Given the description of an element on the screen output the (x, y) to click on. 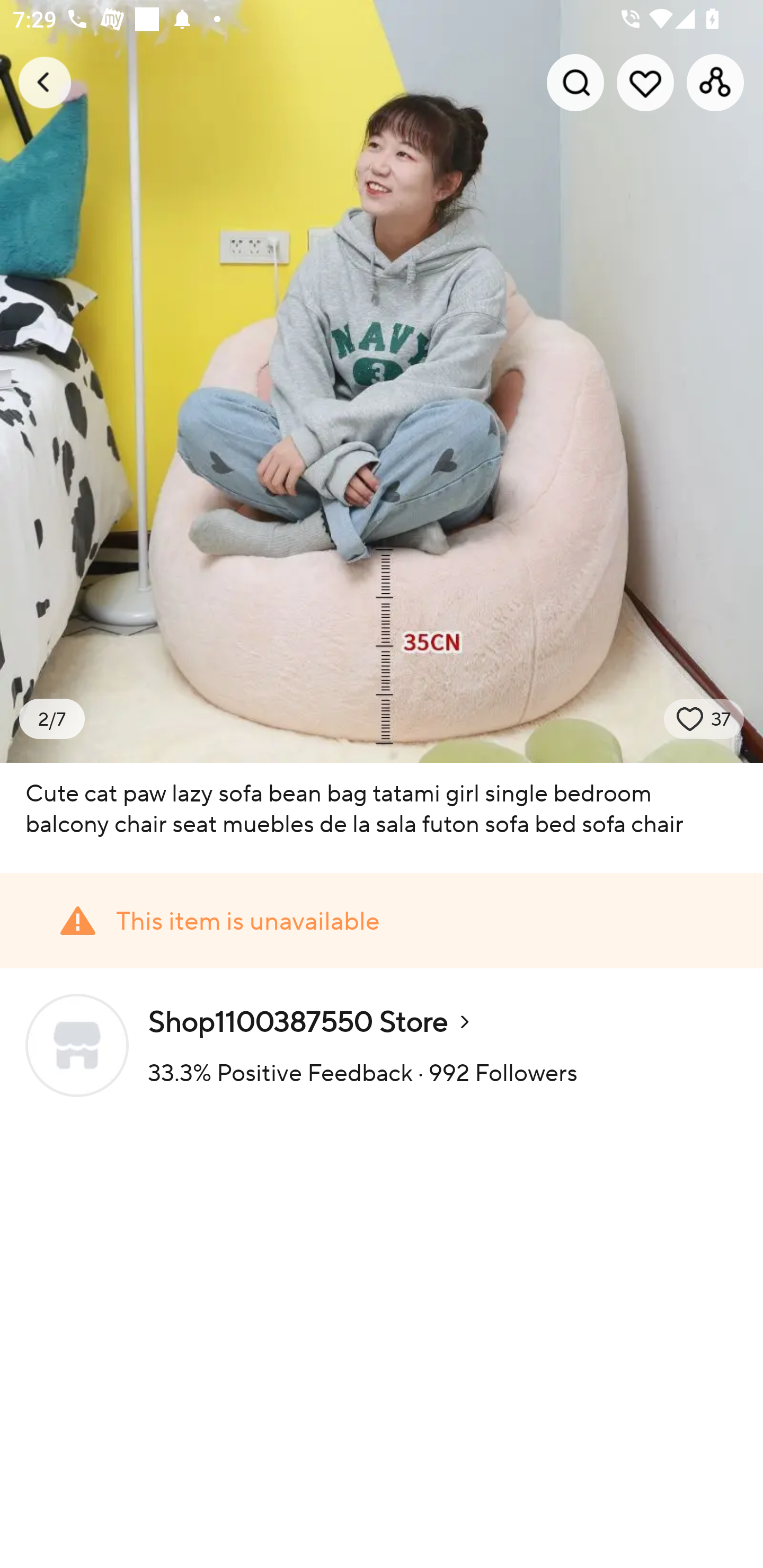
Navigate up (44, 82)
wish state 37 (703, 718)
